Given the description of an element on the screen output the (x, y) to click on. 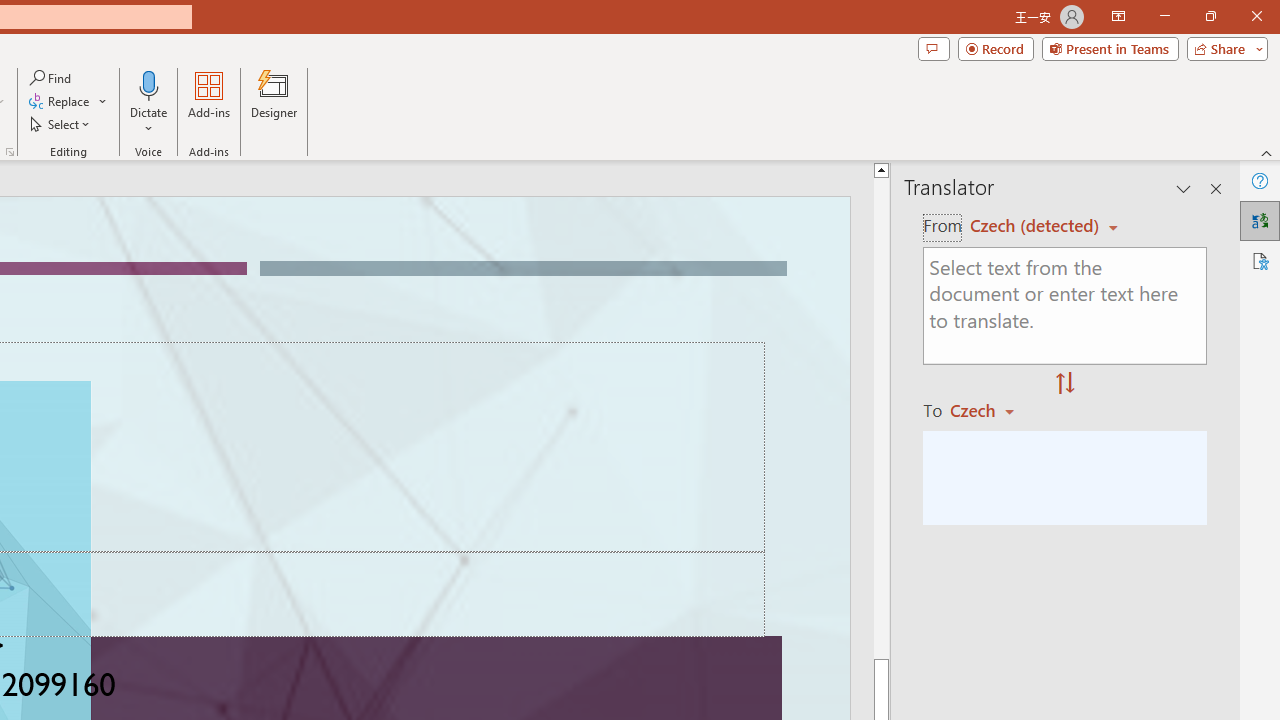
Swap "from" and "to" languages. (1065, 383)
